Given the description of an element on the screen output the (x, y) to click on. 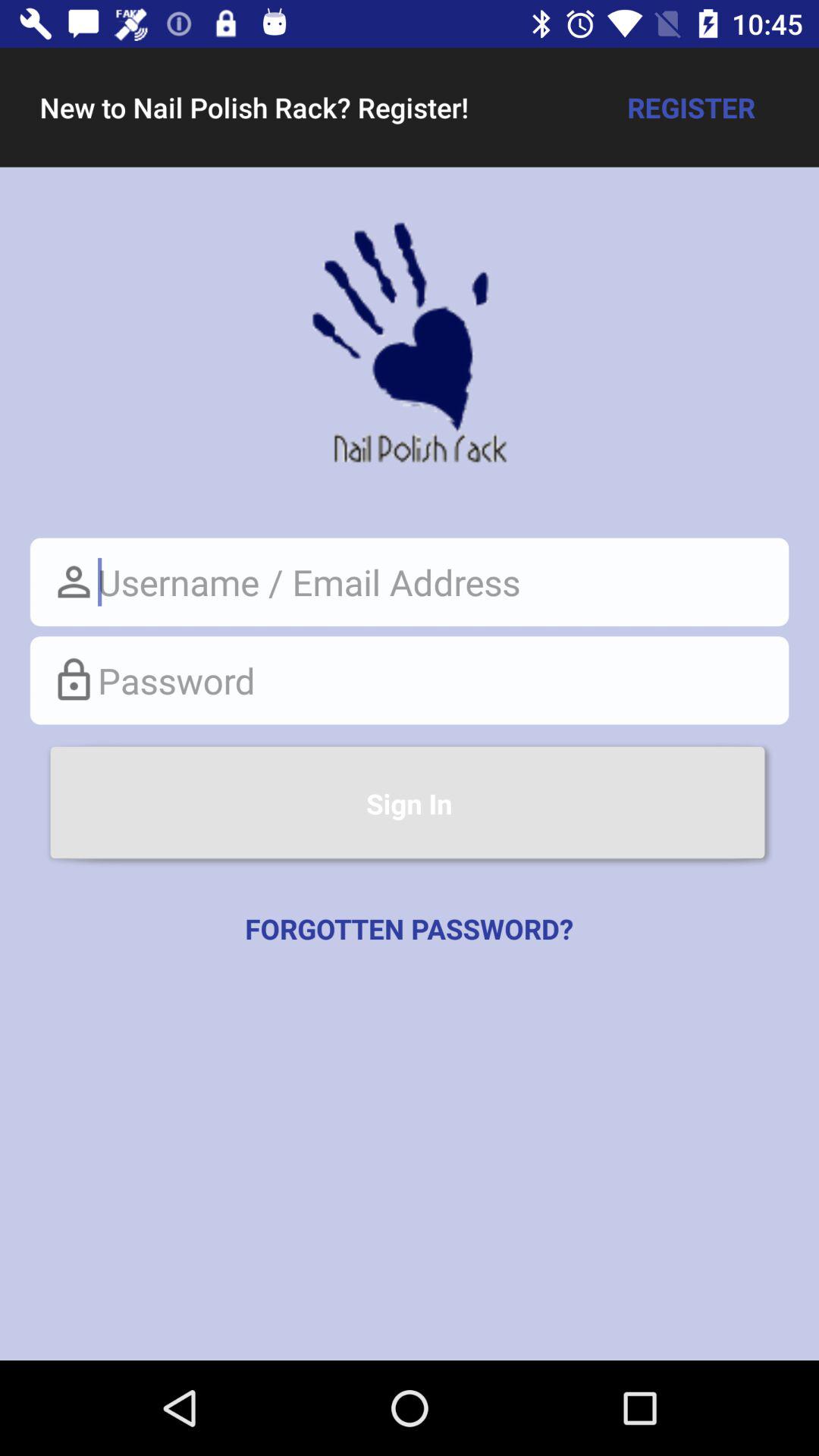
enter password (409, 680)
